Given the description of an element on the screen output the (x, y) to click on. 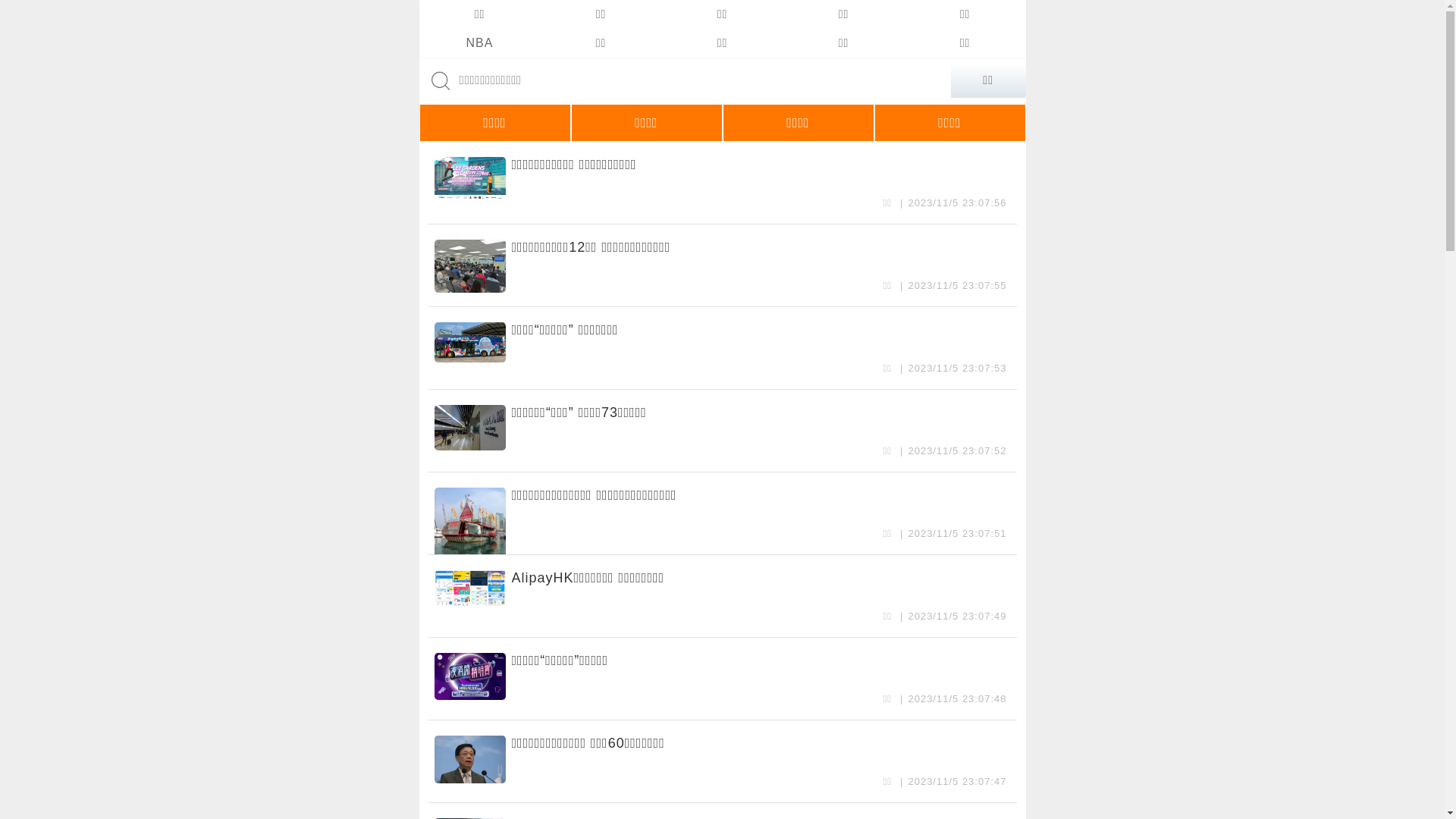
NBA Element type: text (478, 42)
